Given the description of an element on the screen output the (x, y) to click on. 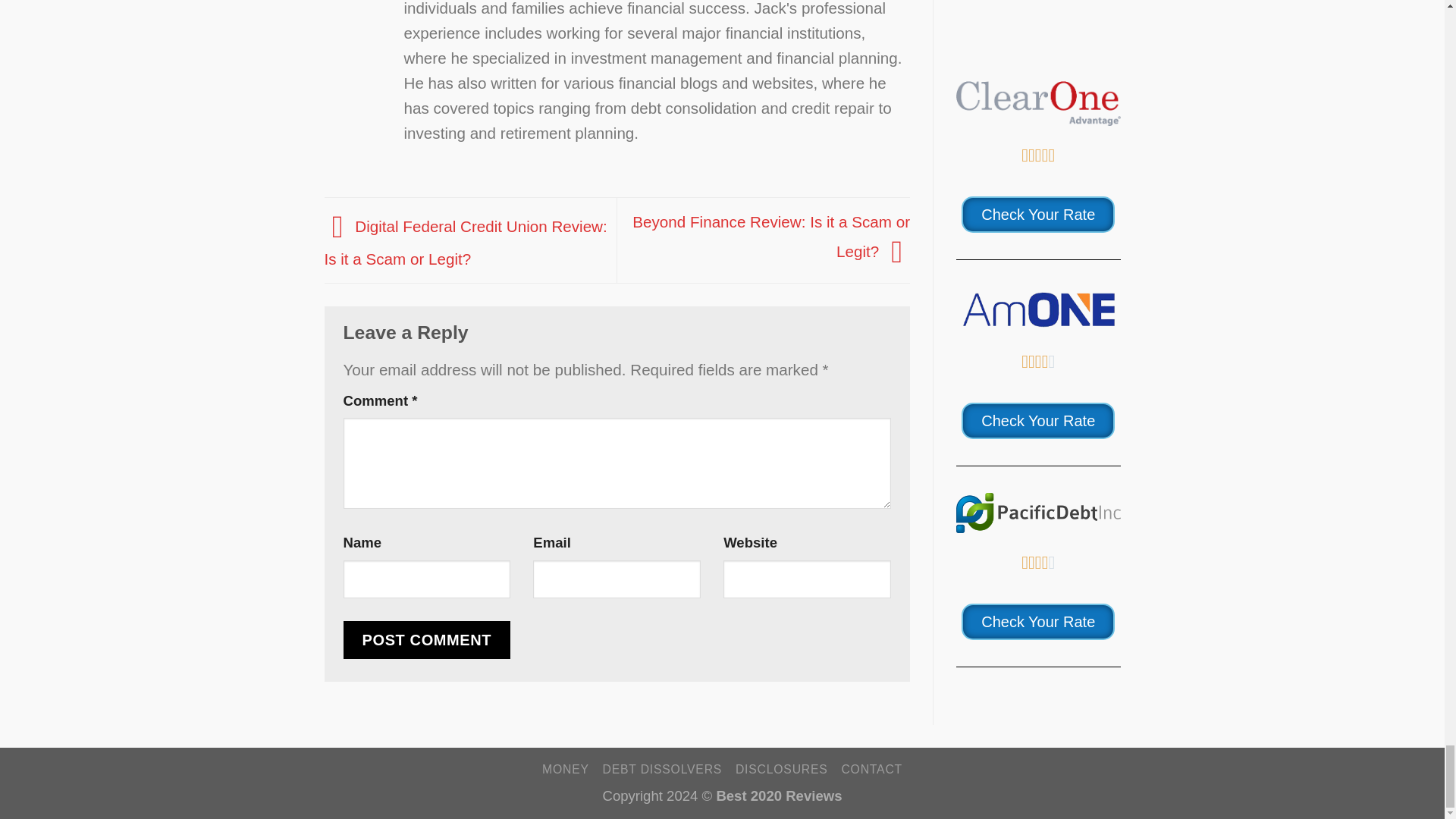
Post Comment (426, 639)
